Given the description of an element on the screen output the (x, y) to click on. 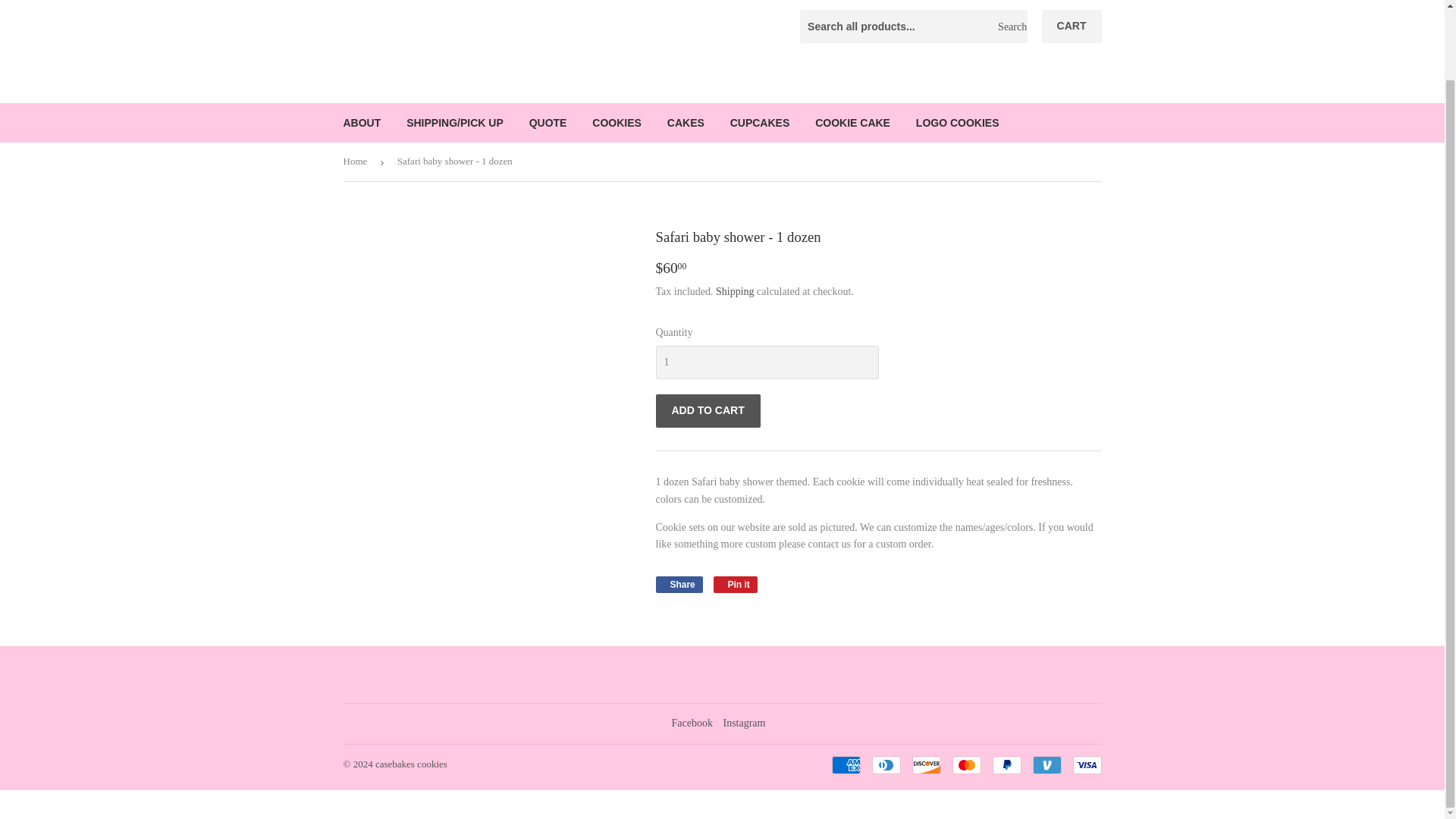
PayPal (1005, 764)
Search (1009, 27)
Mastercard (966, 764)
Share on Facebook (678, 584)
casebakes cookies on Facebook (692, 722)
Venmo (1046, 764)
casebakes cookies on Instagram (743, 722)
Pin on Pinterest (735, 584)
Visa (1085, 764)
1 (766, 362)
Diners Club (886, 764)
American Express (845, 764)
Discover (925, 764)
Back to the frontpage (357, 161)
CART (1072, 26)
